Given the description of an element on the screen output the (x, y) to click on. 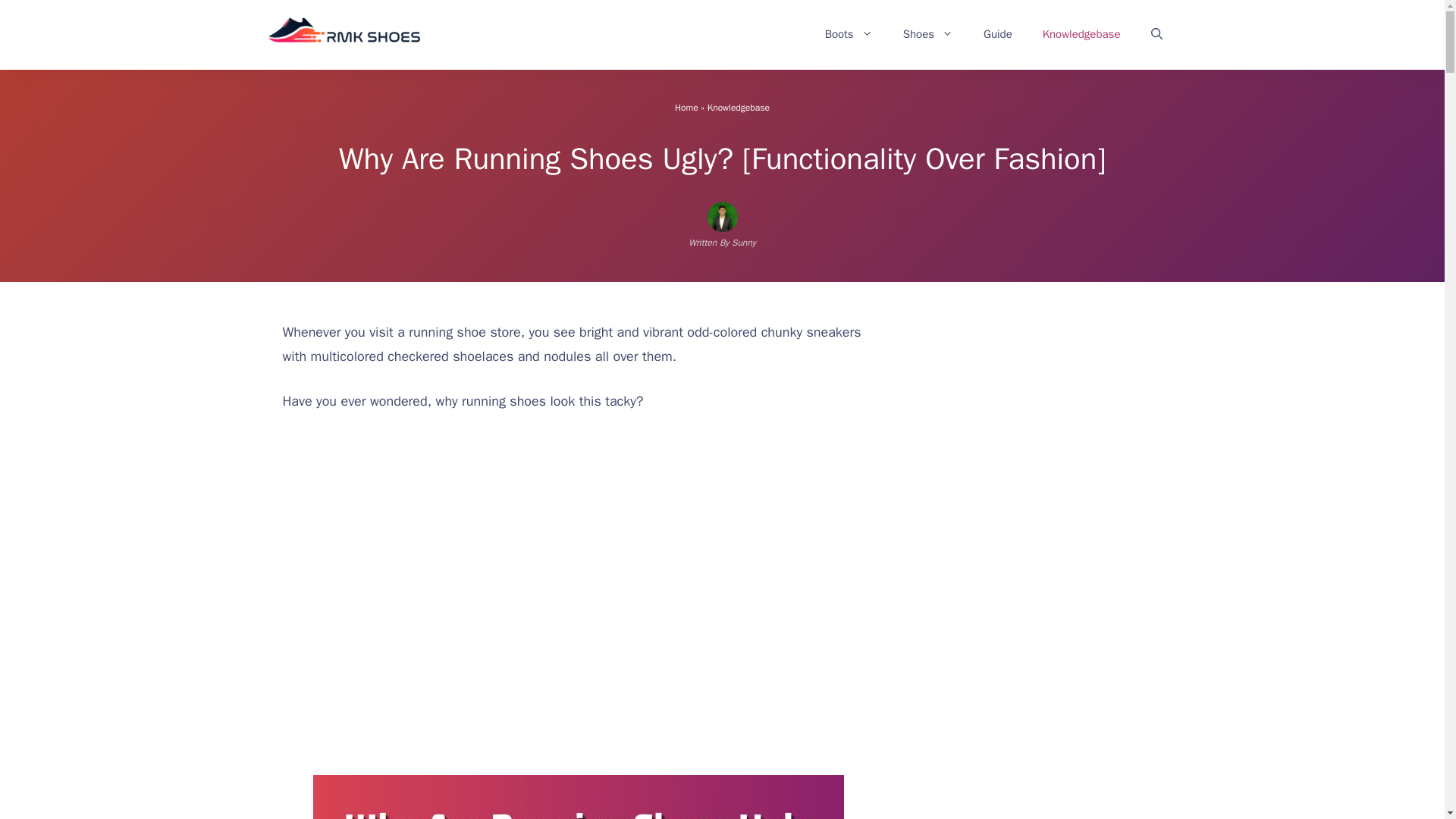
Guide (997, 33)
Shoes (928, 33)
Knowledgebase (1081, 33)
Boots (848, 33)
